Given the description of an element on the screen output the (x, y) to click on. 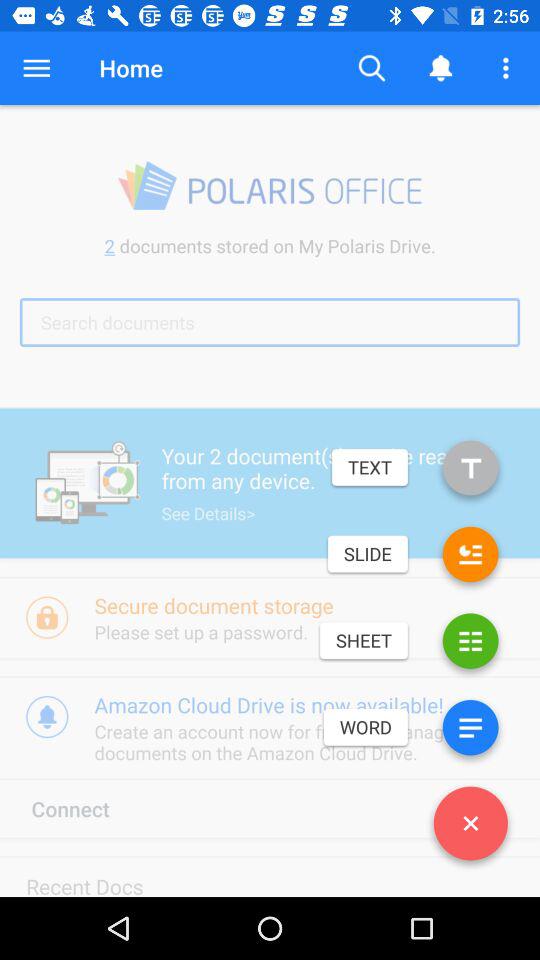
click word (470, 731)
